Given the description of an element on the screen output the (x, y) to click on. 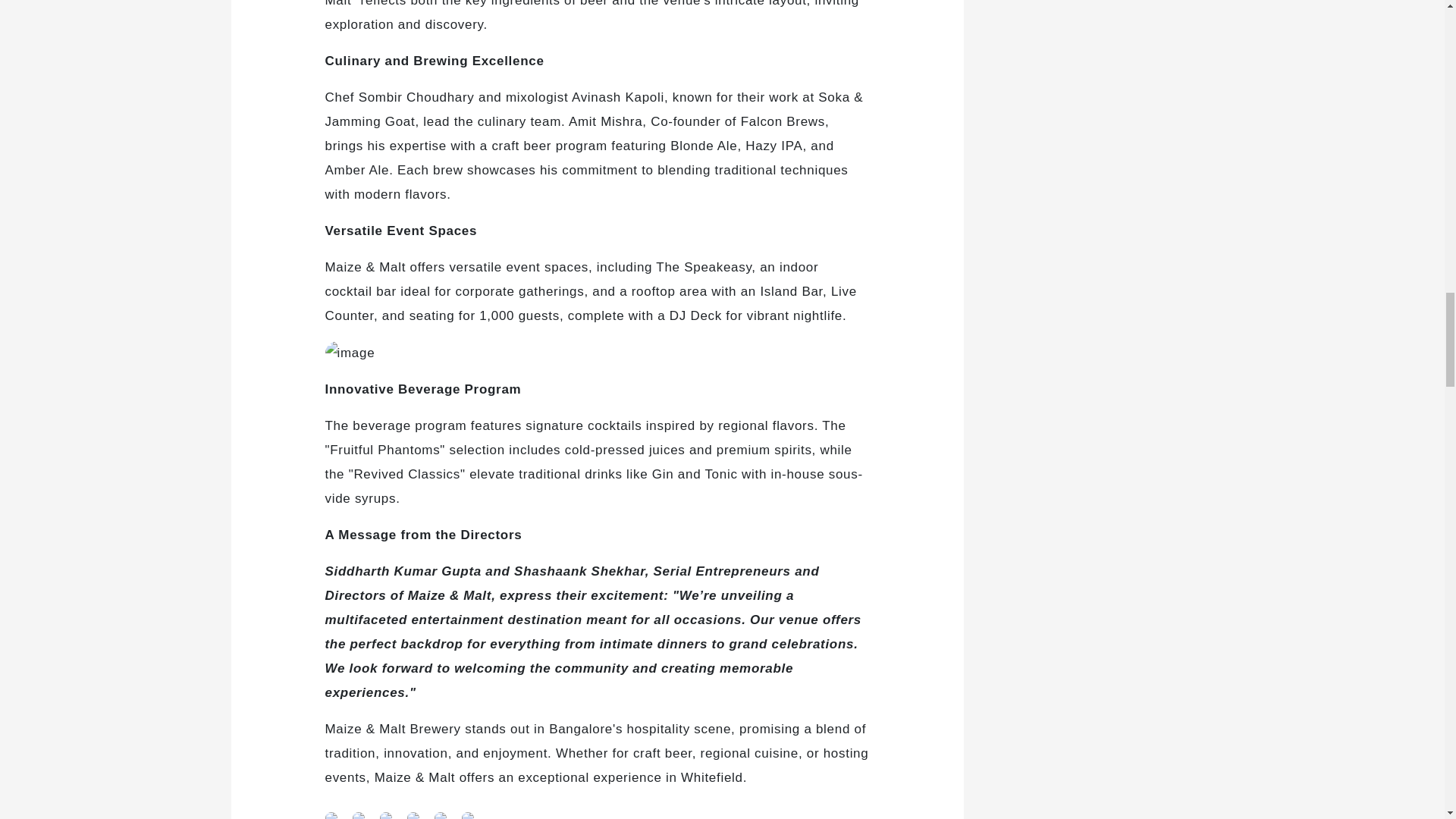
Whatsapp (333, 810)
Linkedin (357, 810)
